Given the description of an element on the screen output the (x, y) to click on. 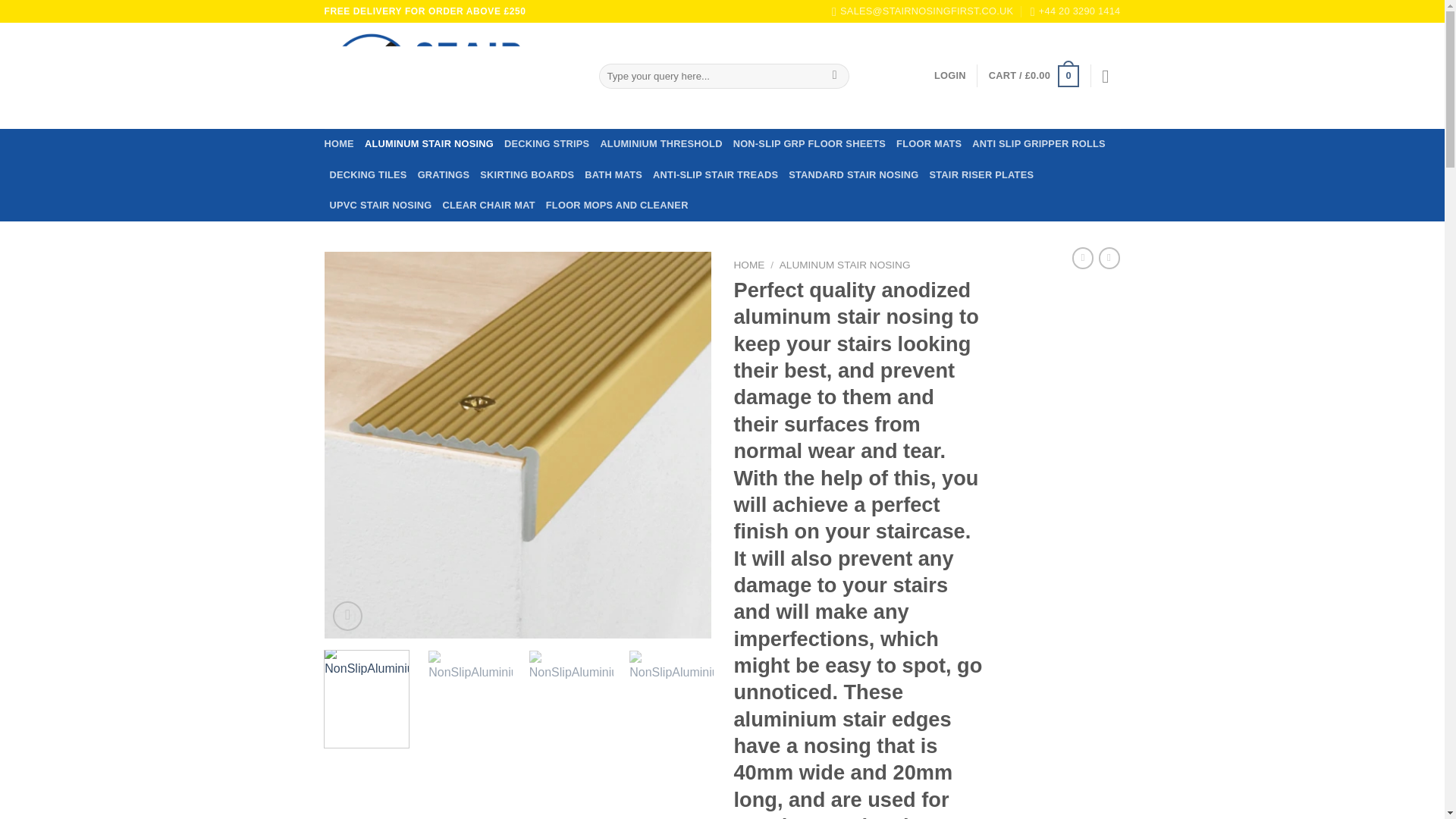
ALUMINUM STAIR NOSING (429, 143)
GRATINGS (443, 174)
CLEAR CHAIR MAT (488, 205)
BATH MATS (613, 174)
Zoom (347, 615)
DECKING STRIPS (546, 143)
FLOOR MOPS AND CLEANER (617, 205)
Cart (1033, 76)
